Given the description of an element on the screen output the (x, y) to click on. 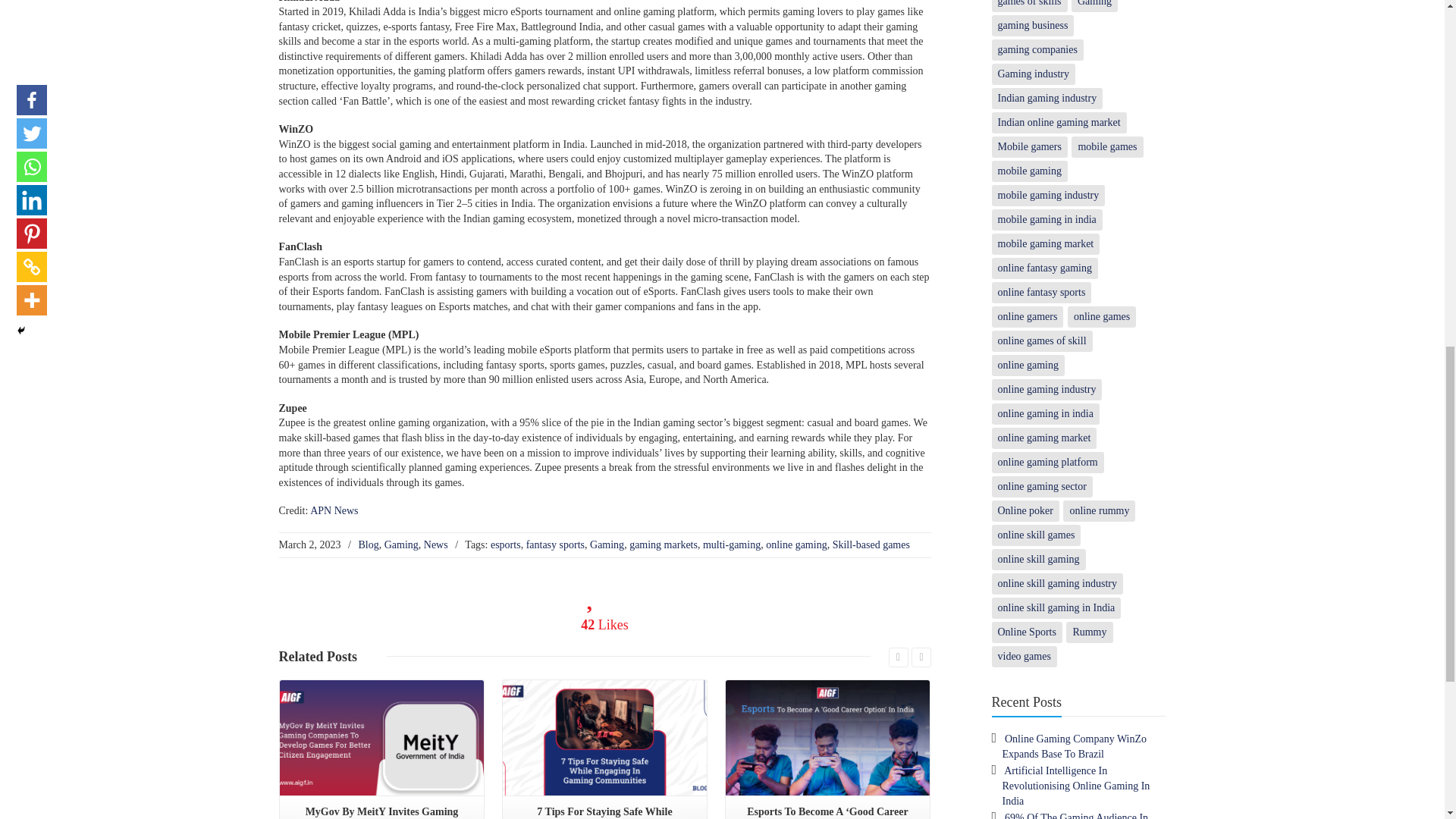
APN News (334, 510)
Gaming (401, 544)
News (435, 544)
Blog (368, 544)
